Given the description of an element on the screen output the (x, y) to click on. 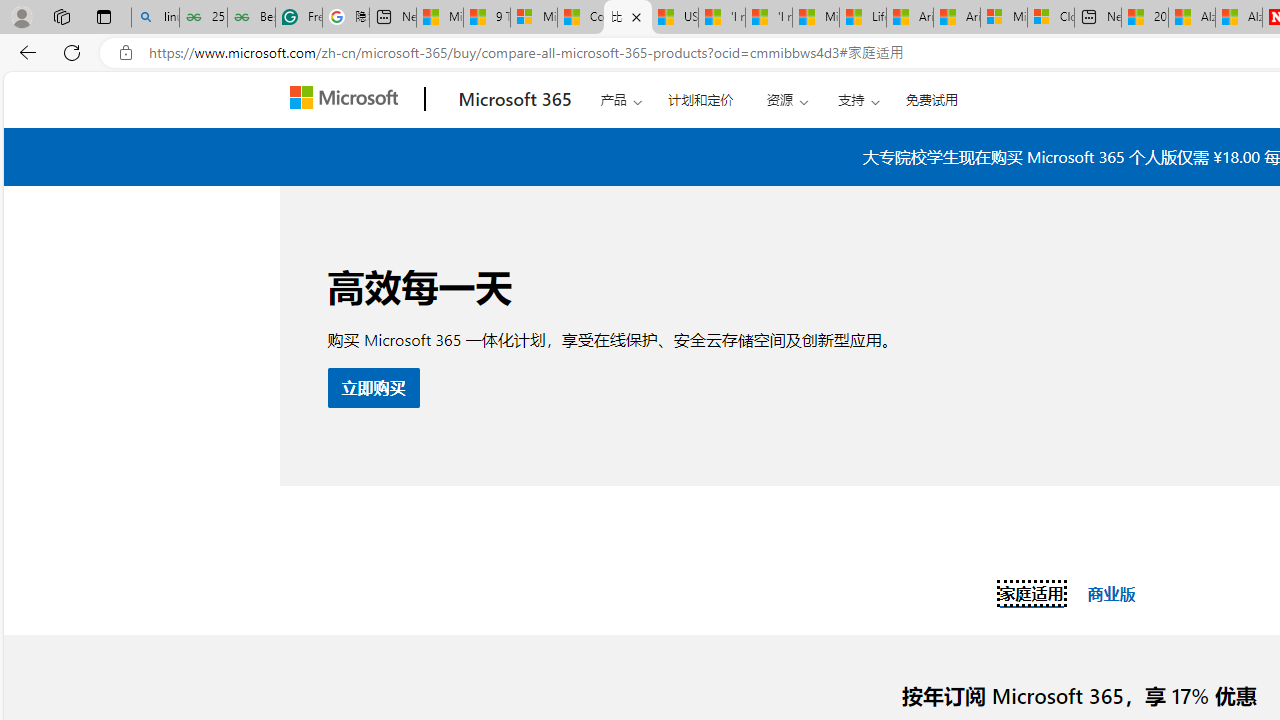
Lifestyle - MSN (862, 17)
25 Basic Linux Commands For Beginners - GeeksforGeeks (203, 17)
Cloud Computing Services | Microsoft Azure (1050, 17)
Best SSL Certificates Provider in India - GeeksforGeeks (251, 17)
